Given the description of an element on the screen output the (x, y) to click on. 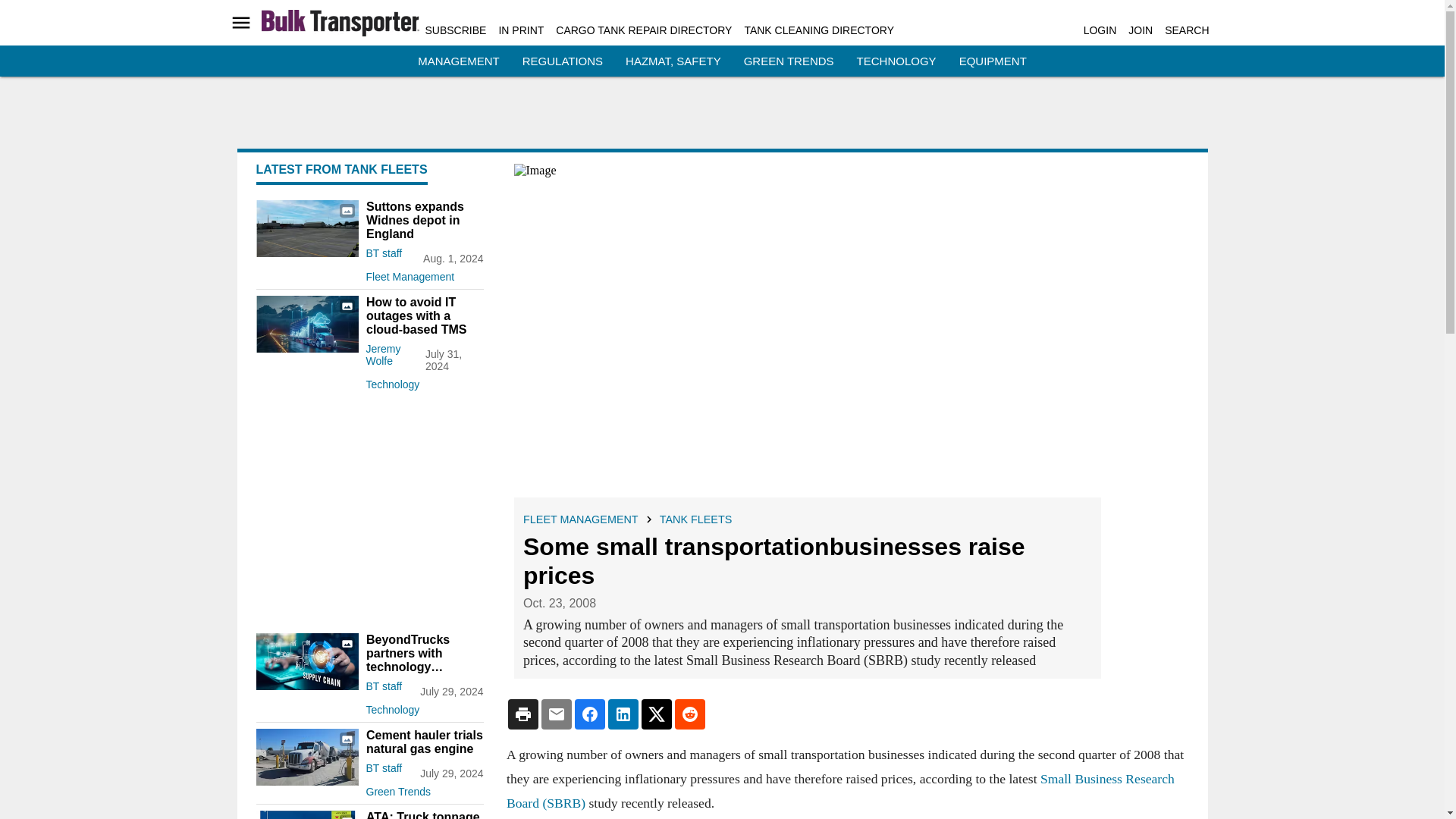
REGULATIONS (562, 60)
EQUIPMENT (992, 60)
GREEN TRENDS (789, 60)
TECHNOLOGY (896, 60)
MANAGEMENT (458, 60)
SUBSCRIBE (455, 30)
HAZMAT, SAFETY (673, 60)
CARGO TANK REPAIR DIRECTORY (644, 30)
LOGIN (1099, 30)
SEARCH (1186, 30)
IN PRINT (520, 30)
JOIN (1140, 30)
TANK CLEANING DIRECTORY (818, 30)
